Given the description of an element on the screen output the (x, y) to click on. 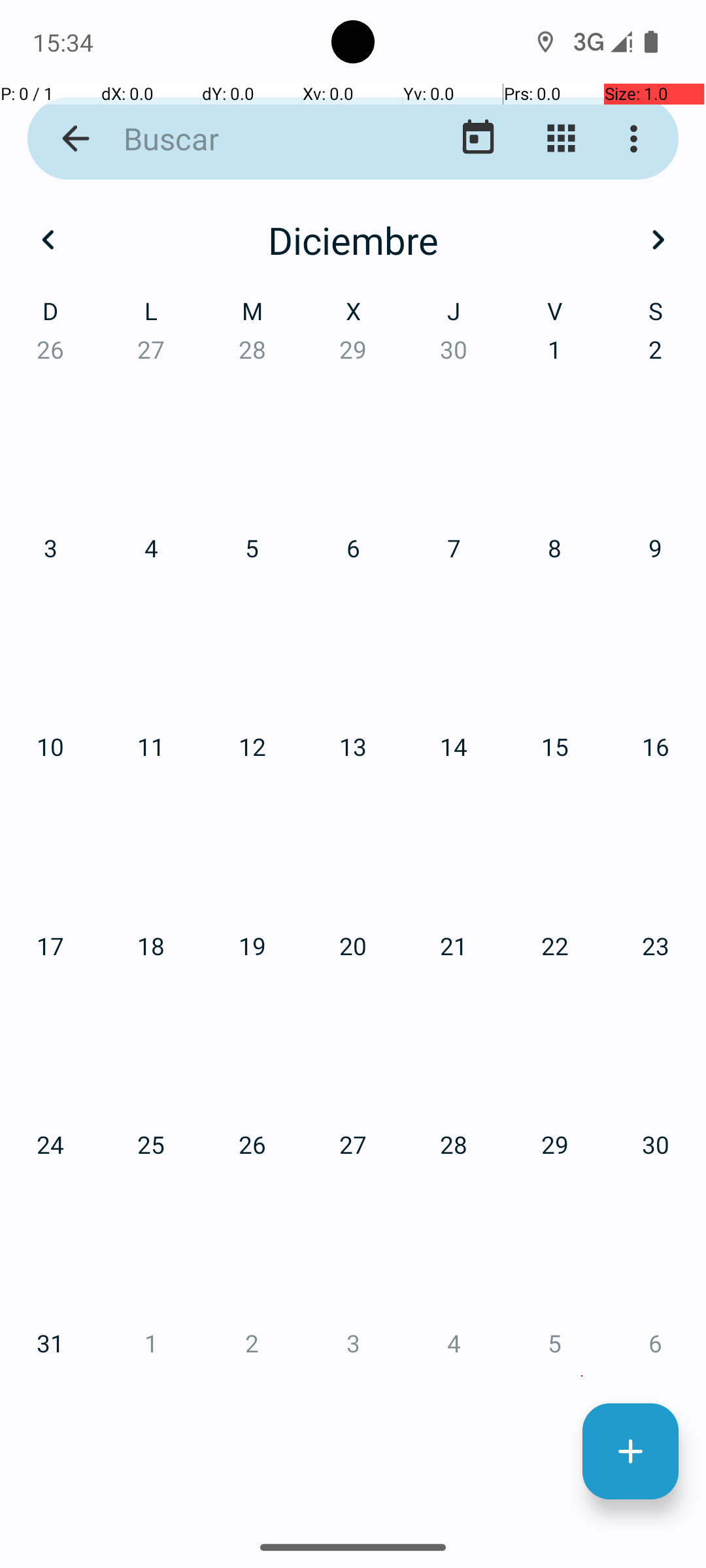
Buscar Element type: android.widget.EditText (252, 138)
Ir al día de hoy Element type: android.widget.Button (477, 138)
Cambiar vista Element type: android.widget.Button (560, 138)
Más opciones Element type: android.widget.ImageView (636, 138)
Nuevo evento Element type: android.widget.ImageButton (630, 1451)
ENERO Element type: android.widget.TextView (123, 319)
FEBRERO Element type: android.widget.TextView (352, 319)
MARZO Element type: android.widget.TextView (582, 319)
ABRIL Element type: android.widget.TextView (123, 621)
MAYO Element type: android.widget.TextView (352, 621)
JUNIO Element type: android.widget.TextView (582, 621)
JULIO Element type: android.widget.TextView (123, 923)
AGOSTO Element type: android.widget.TextView (352, 923)
SEPTIEMBRE Element type: android.widget.TextView (582, 923)
OCTUBRE Element type: android.widget.TextView (123, 1224)
NOVIEMBRE Element type: android.widget.TextView (352, 1224)
DICIEMBRE Element type: android.widget.TextView (582, 1224)
Diciembre Element type: android.widget.TextView (352, 239)
